Given the description of an element on the screen output the (x, y) to click on. 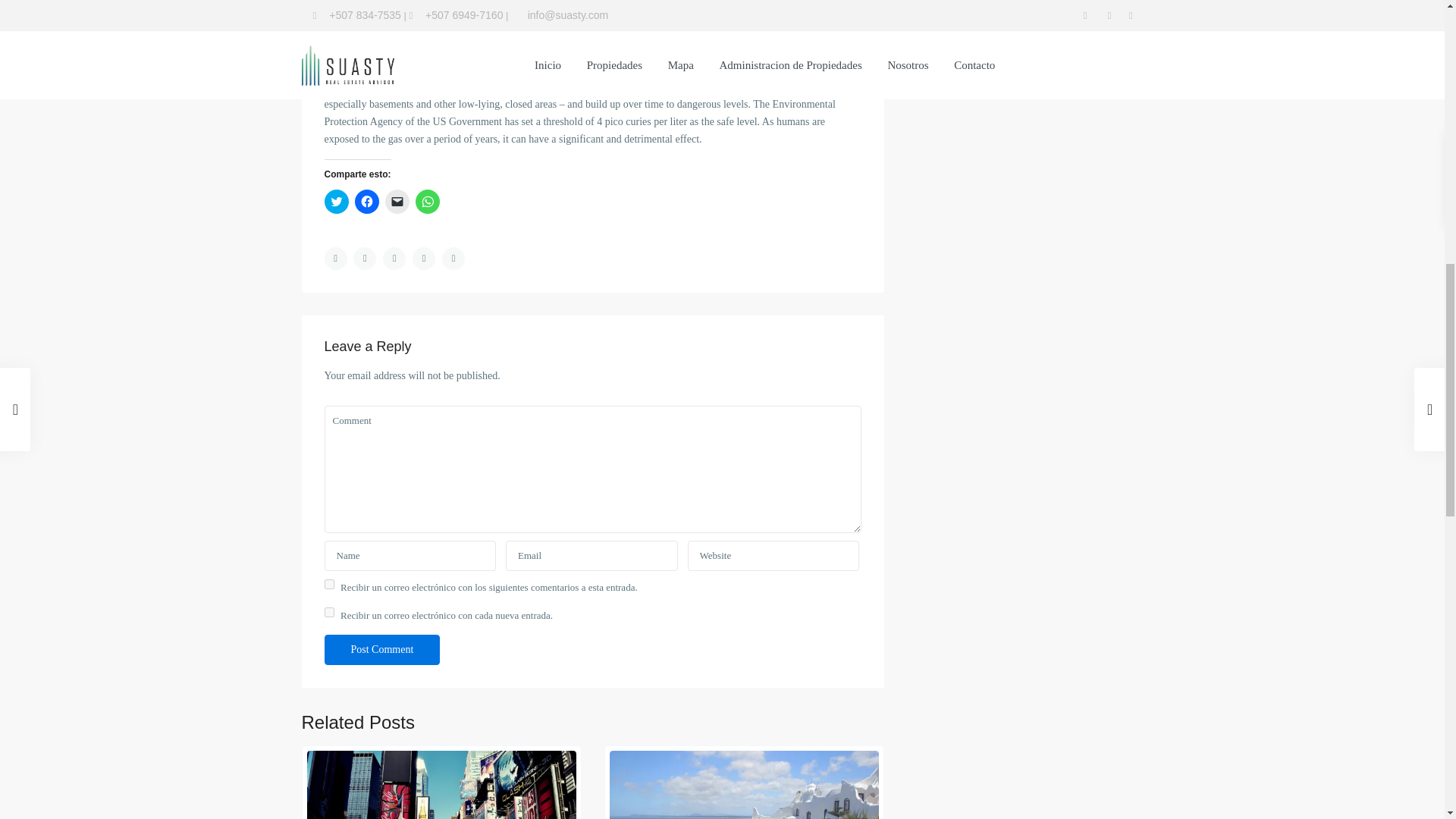
subscribe (329, 583)
Haz clic para compartir en Twitter (336, 201)
Haz clic para compartir en Facebook (366, 201)
Post Comment (382, 649)
subscribe (329, 612)
Haz clic para compartir en WhatsApp (426, 201)
